Given the description of an element on the screen output the (x, y) to click on. 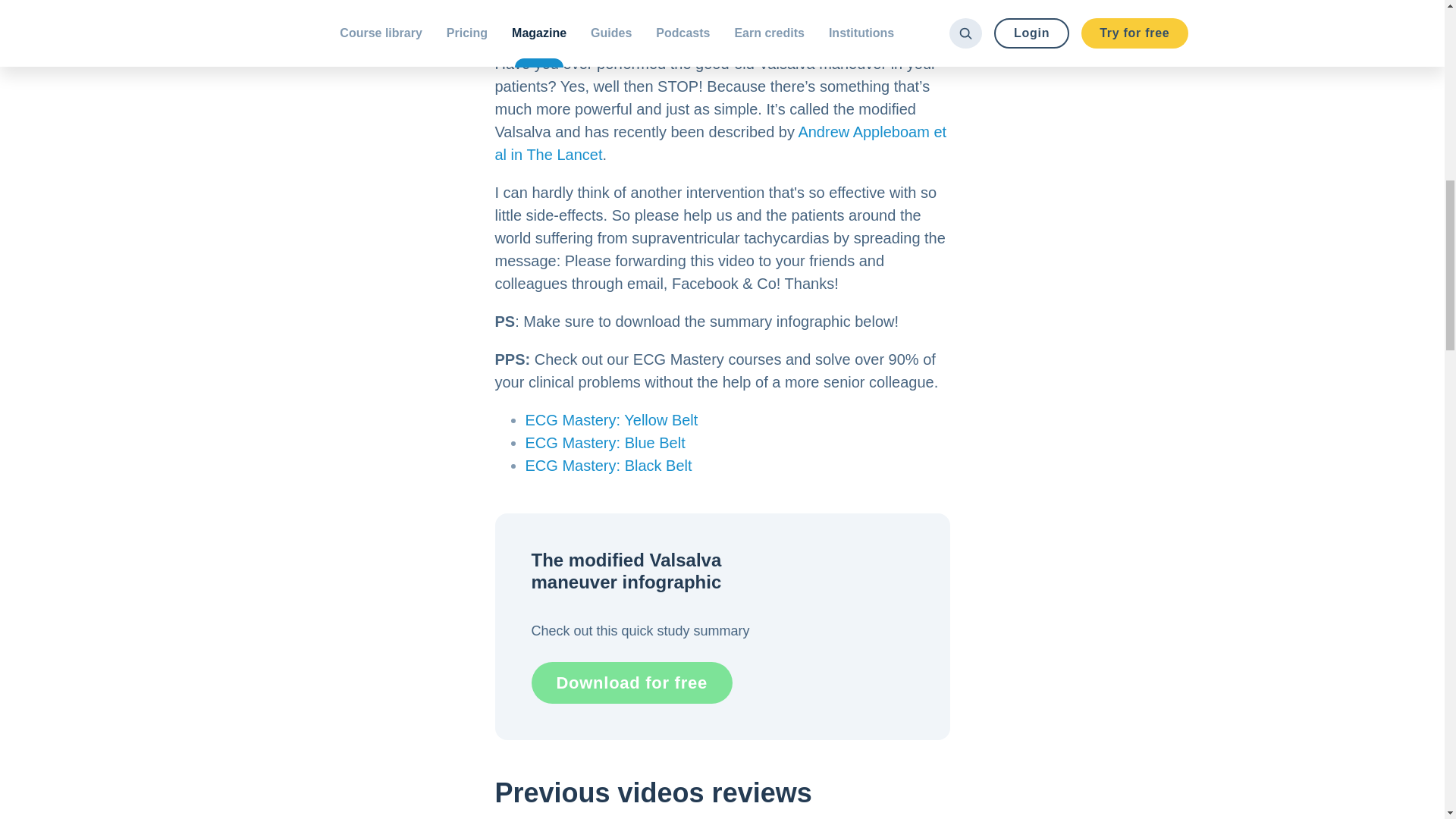
ECG Mastery: Black Belt (607, 465)
Download for free (631, 682)
Andrew Appleboam et al in The Lancet (720, 142)
ECG Mastery: Yellow Belt (610, 419)
ECG Mastery: Blue Belt (604, 442)
